Given the description of an element on the screen output the (x, y) to click on. 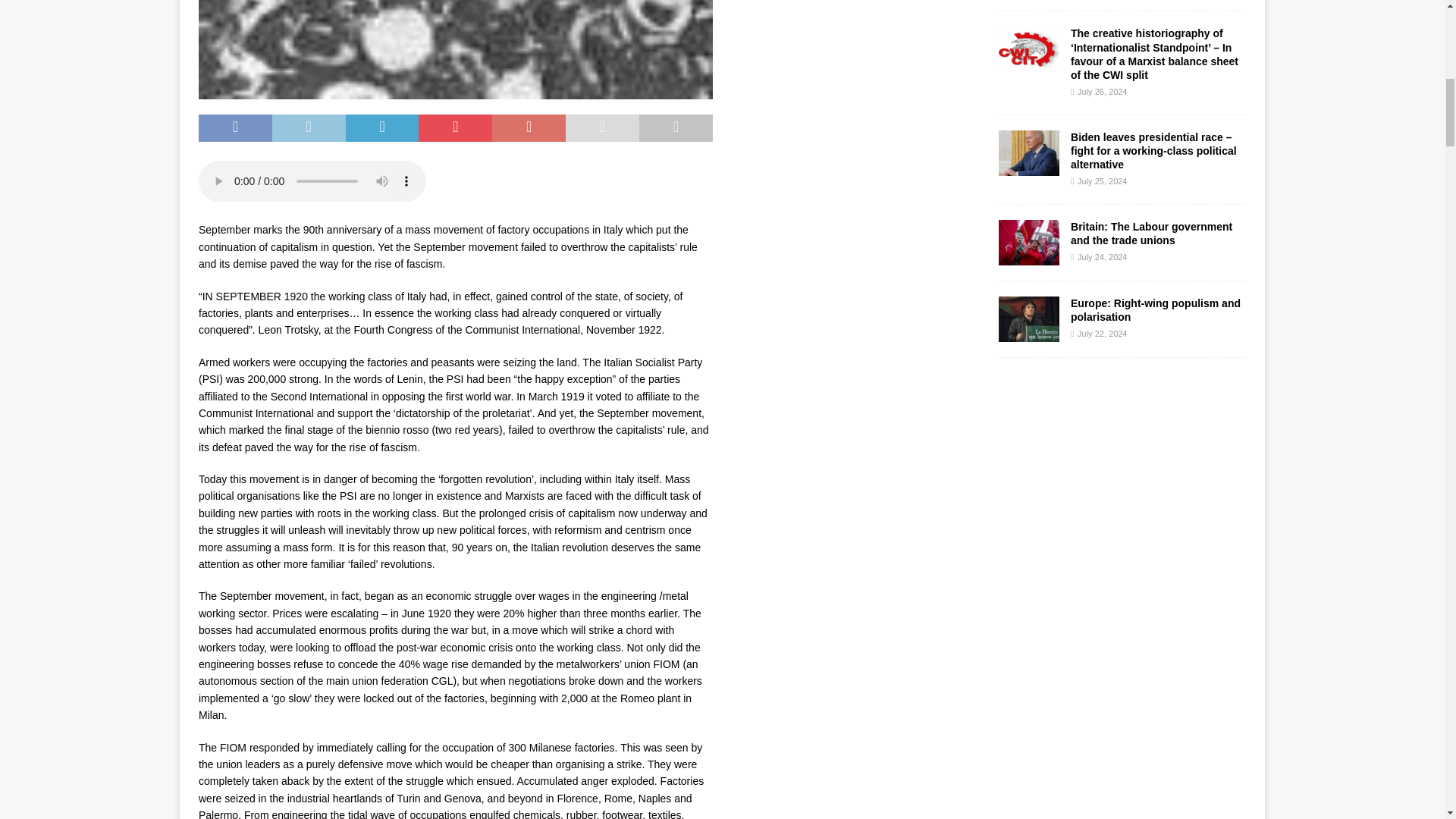
20100927Grafik6891150353404413526 (455, 49)
